Given the description of an element on the screen output the (x, y) to click on. 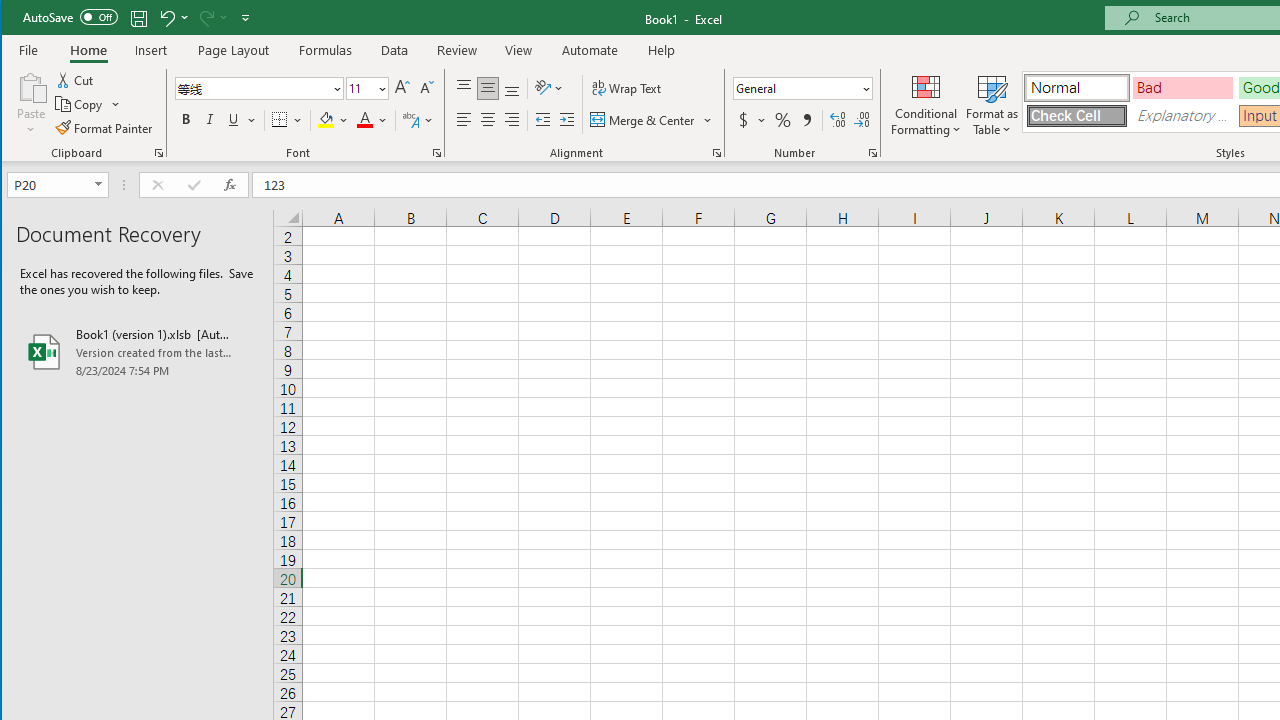
Increase Font Size (401, 88)
Conditional Formatting (926, 104)
Explanatory Text (1183, 116)
Center (488, 119)
Decrease Indent (543, 119)
Wrap Text (627, 88)
Italic (209, 119)
Fill Color (333, 119)
Number Format (795, 88)
Bottom Align (511, 88)
Bottom Border (279, 119)
Merge & Center (651, 119)
